Given the description of an element on the screen output the (x, y) to click on. 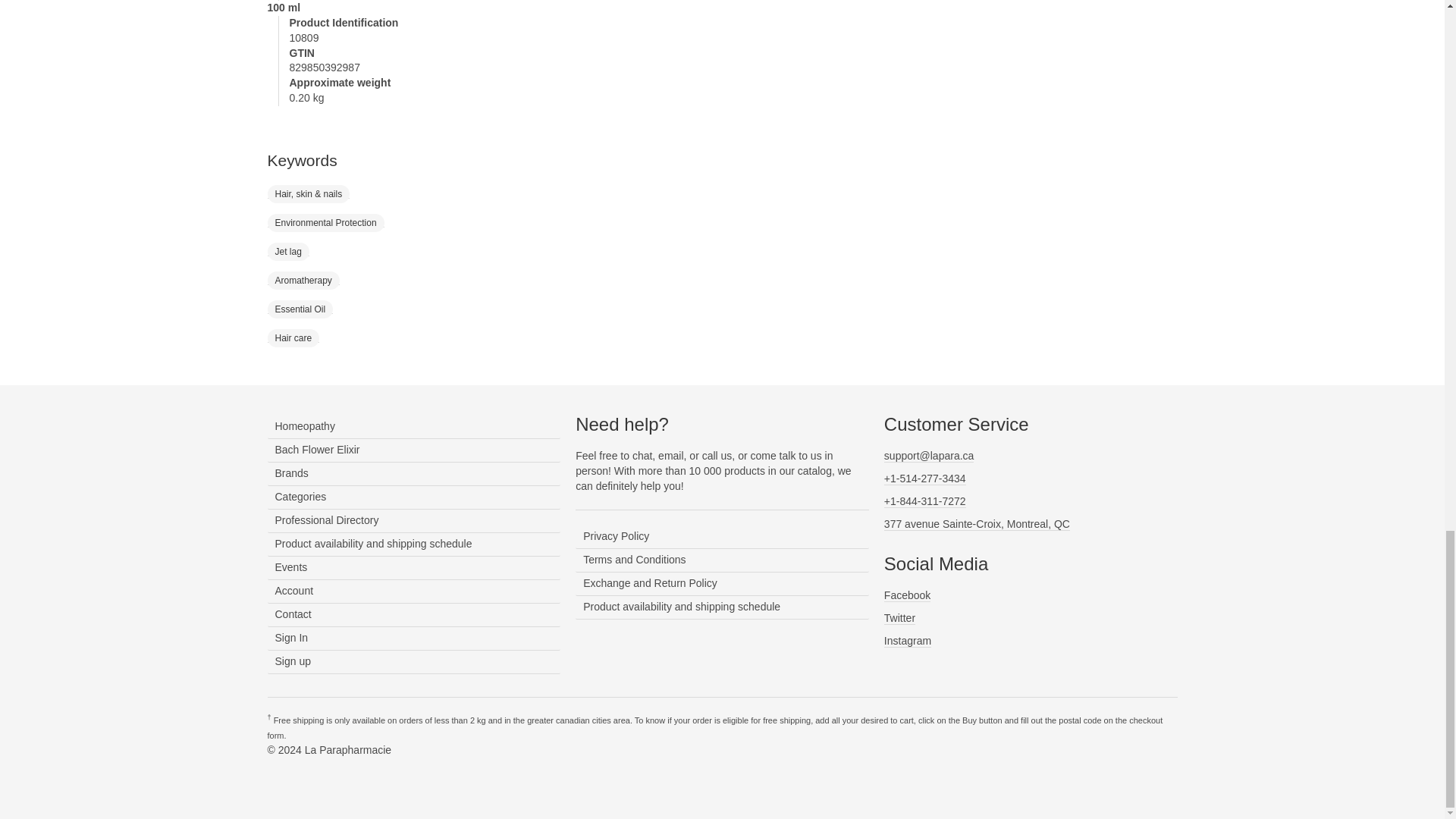
Brands (413, 474)
Hair care (292, 336)
Contact (413, 615)
Exchange and Return Policy (722, 584)
Sign up (413, 662)
Product availability and shipping schedule (413, 544)
Homeopathy (413, 426)
Account (413, 591)
Categories (413, 497)
Sign In (413, 638)
